Given the description of an element on the screen output the (x, y) to click on. 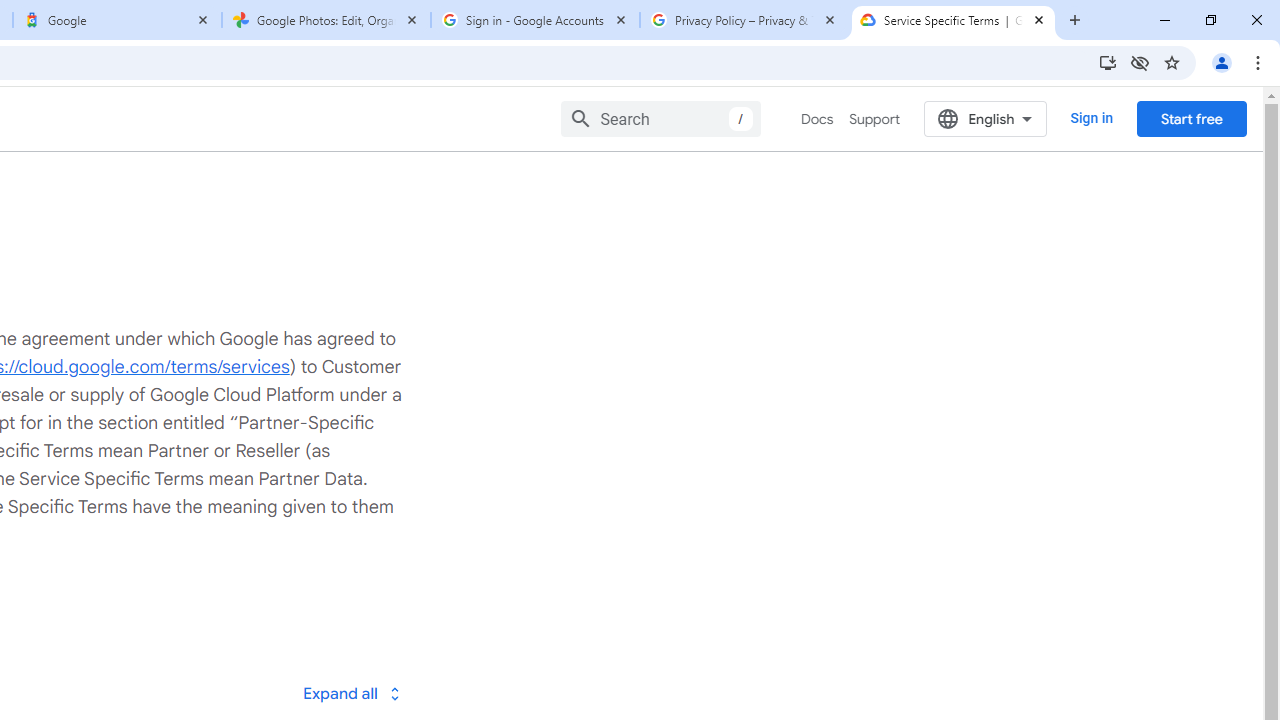
Sign in - Google Accounts (535, 20)
Toggle all (351, 692)
Start free (1191, 118)
